Given the description of an element on the screen output the (x, y) to click on. 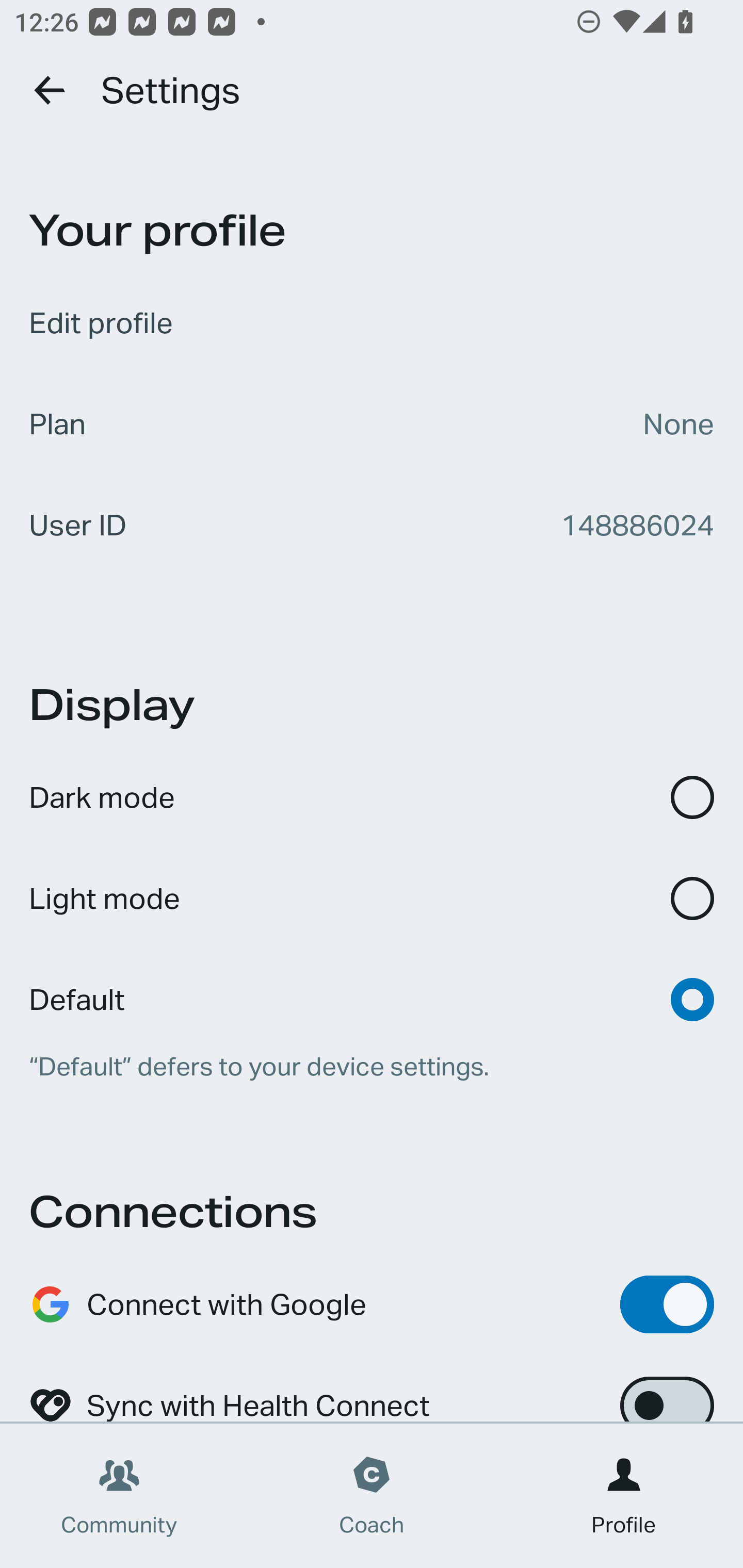
Go back (50, 90)
Edit profile (371, 322)
Plan None (371, 424)
User ID 148886024 (371, 525)
Dark mode (371, 797)
Light mode (371, 898)
Default (371, 985)
“Default” defers to your device settings. (371, 1066)
Connect with Google (371, 1304)
Sync with Health Connect (371, 1388)
Community (119, 1495)
Coach (371, 1495)
